Given the description of an element on the screen output the (x, y) to click on. 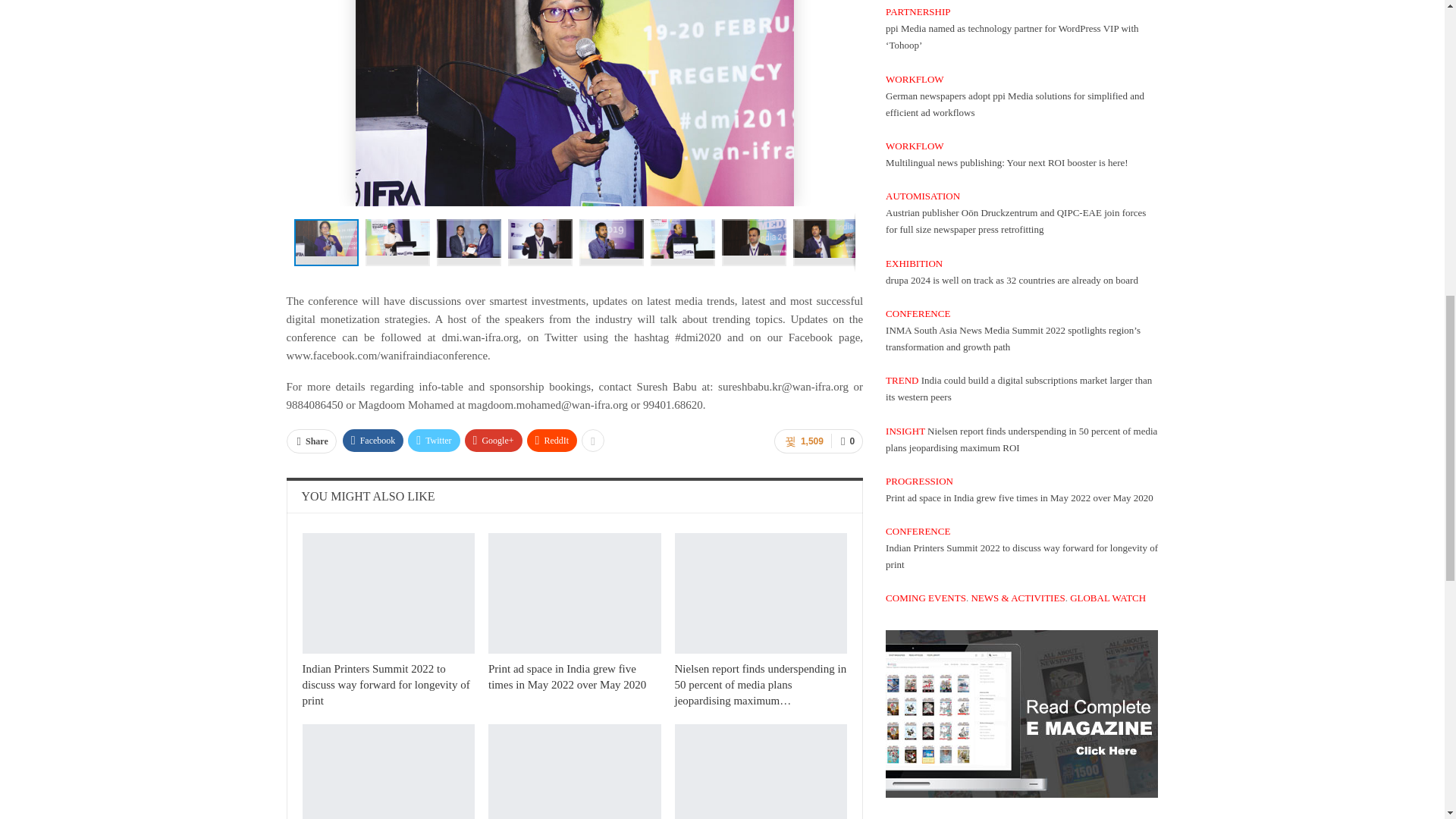
ReddIt (552, 440)
Twitter (433, 440)
Facebook (373, 440)
